Given the description of an element on the screen output the (x, y) to click on. 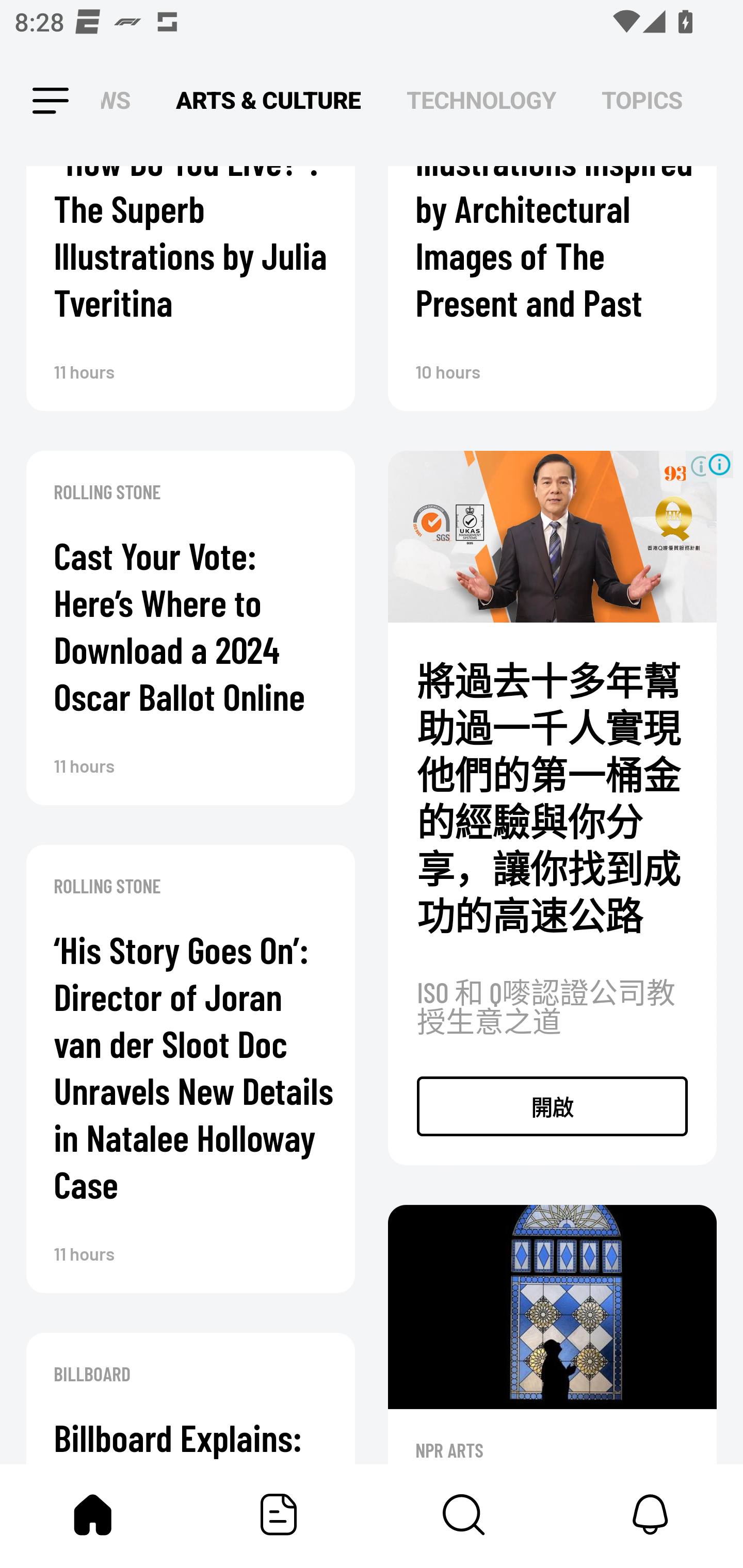
NEWS (121, 100)
TECHNOLOGY (481, 100)
TOPICS (641, 100)
Ad Choices Icon (719, 464)
Featured (278, 1514)
Content Store (464, 1514)
Notifications (650, 1514)
